Given the description of an element on the screen output the (x, y) to click on. 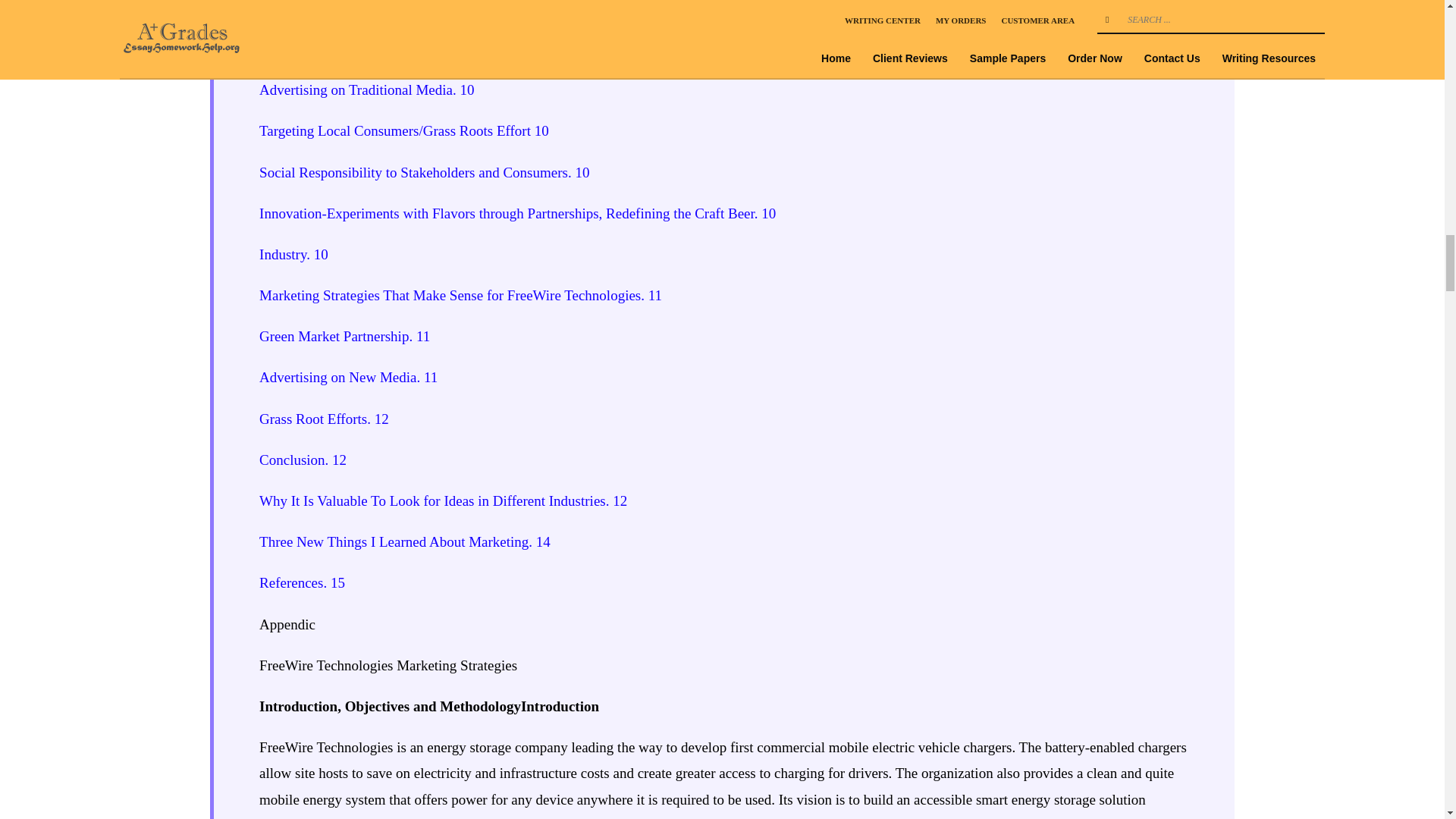
Industry. 10 (294, 254)
Advertising on Traditional Media. 10 (366, 89)
Green Market Partnership. 11 (344, 335)
Social Responsibility to Stakeholders and Consumers. 10 (424, 172)
Green Market Partnership. 9 (341, 7)
Advertising on New Media. 9 (344, 48)
